Given the description of an element on the screen output the (x, y) to click on. 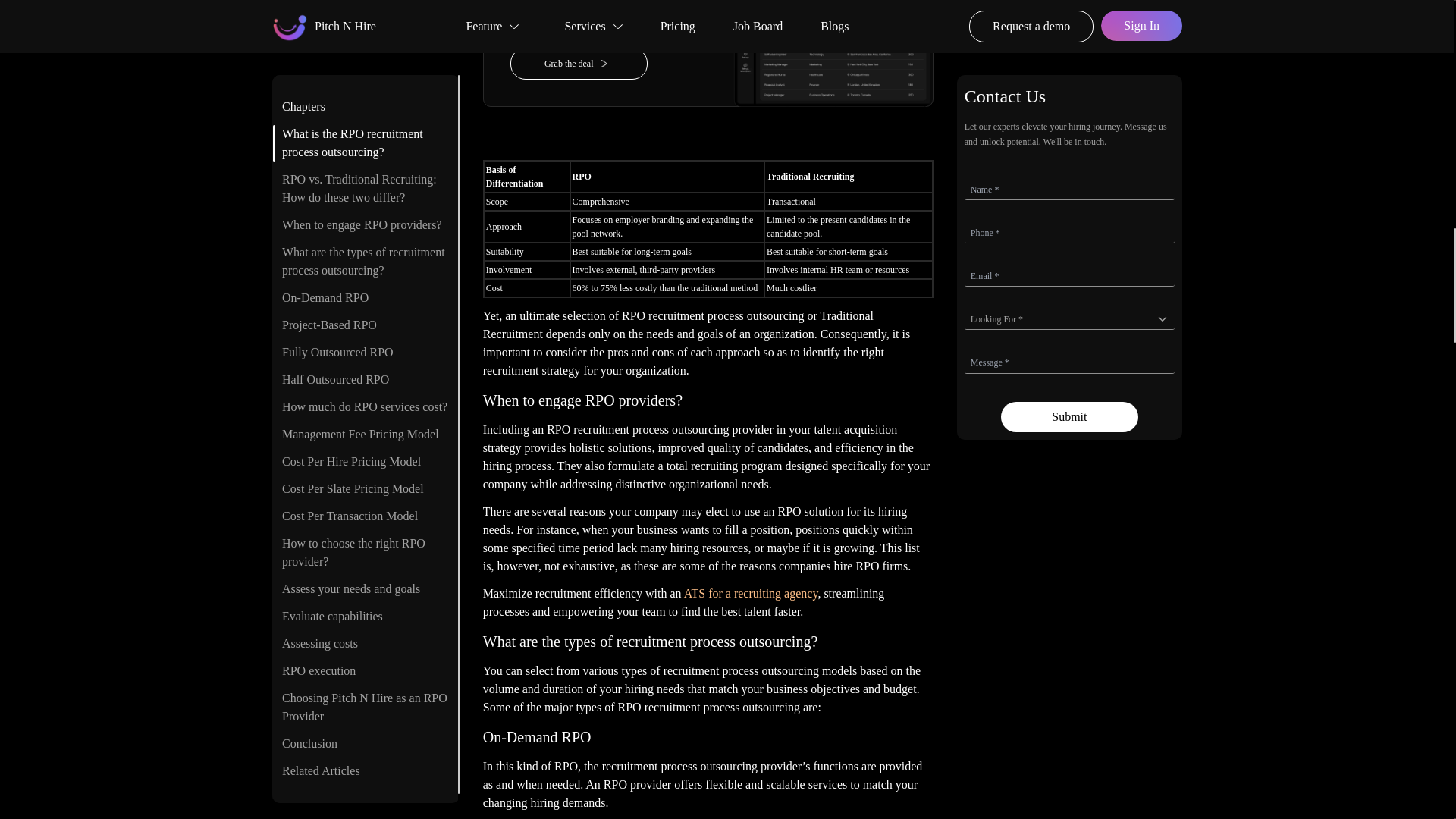
Grab the deal (609, 63)
ATS for a recruiting agency (751, 593)
Grab the deal (579, 63)
